Given the description of an element on the screen output the (x, y) to click on. 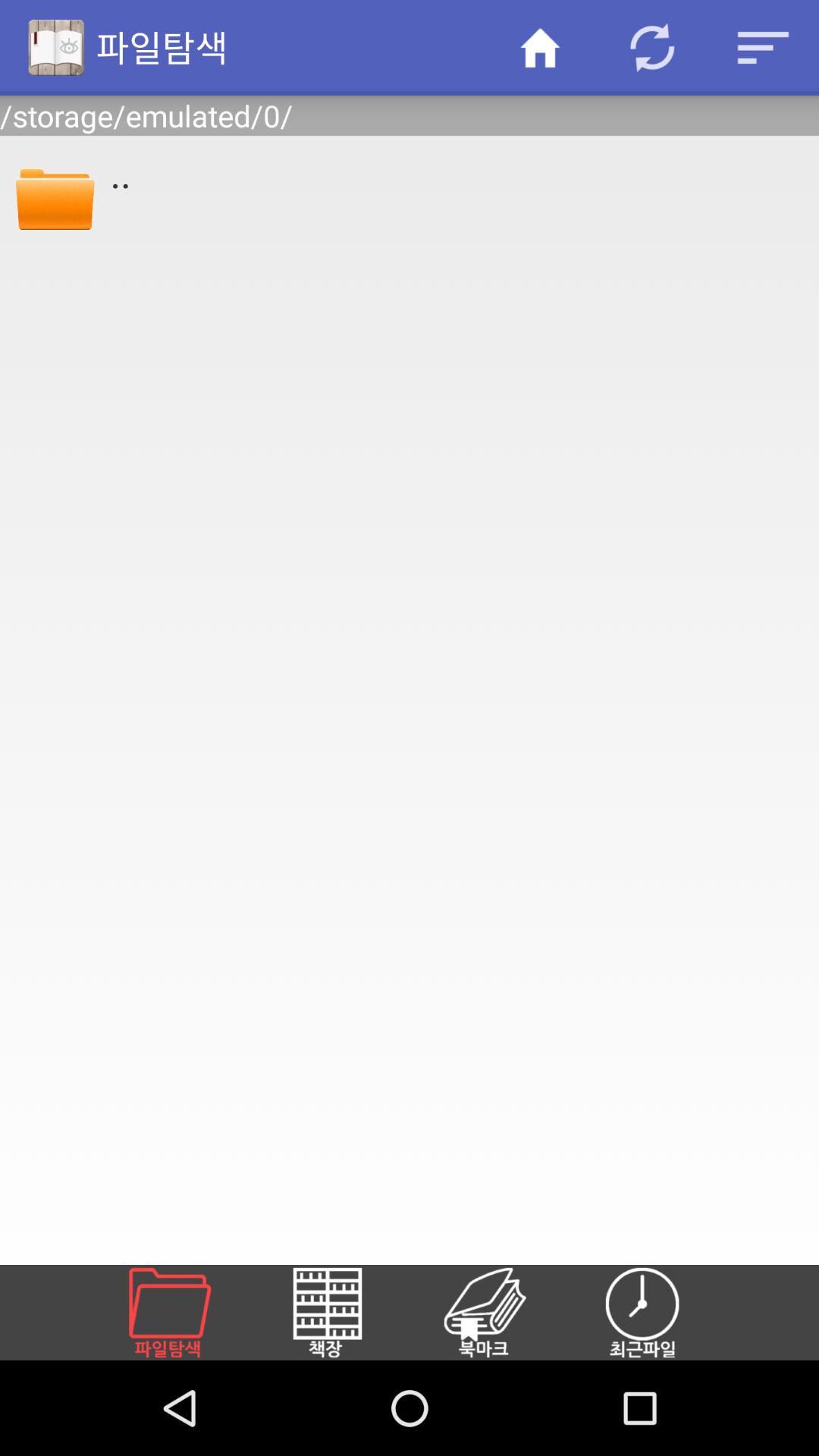
turn on icon below the /storage/emulated/0/ icon (55, 195)
